Given the description of an element on the screen output the (x, y) to click on. 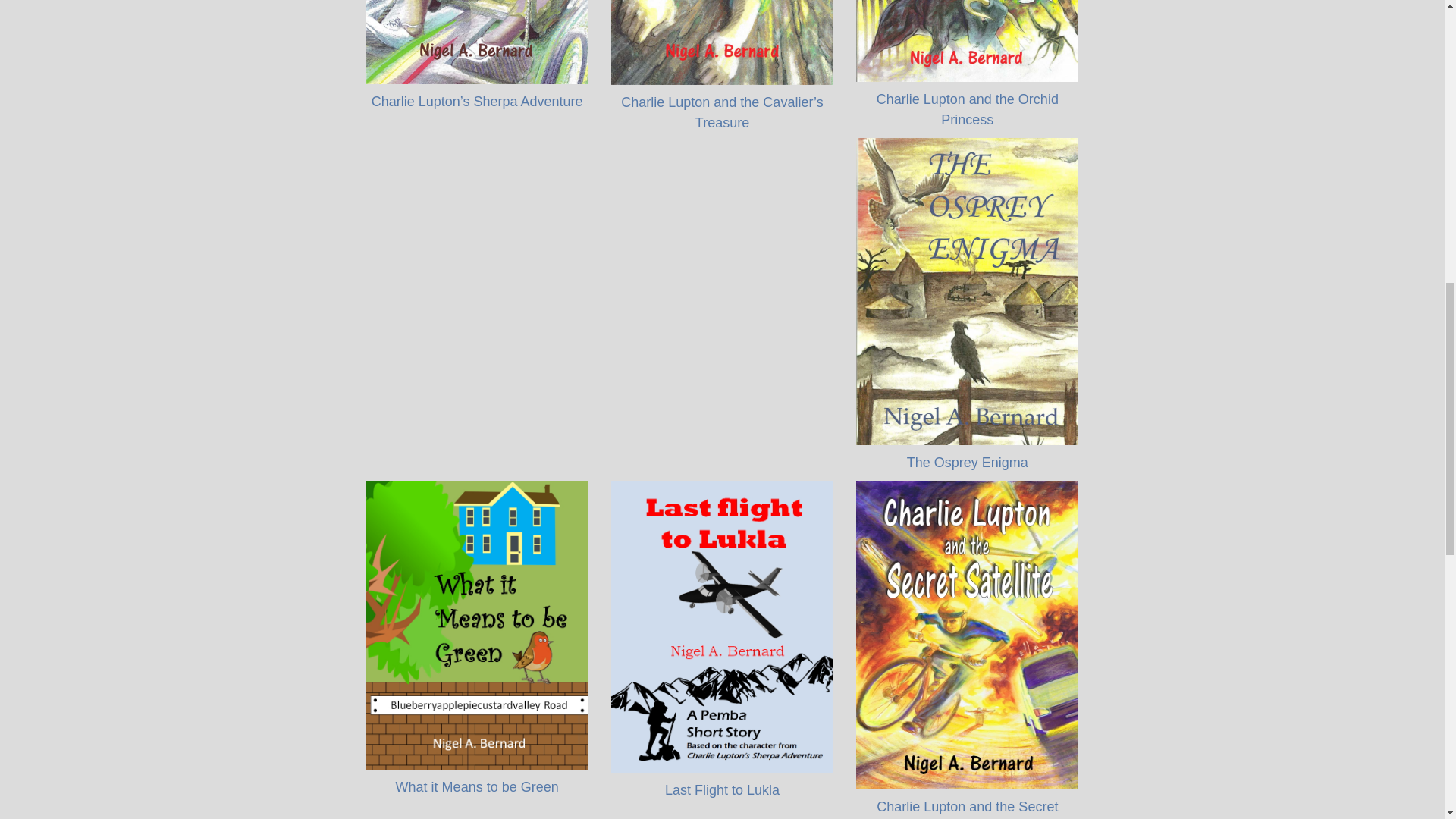
Charlie Lupton and the Secret Satellite (967, 809)
Charlie Lupton and the Orchid Princess (967, 40)
What it Means to be Green (477, 786)
The Osprey Enigma (967, 462)
Last Flight to Lukla (721, 789)
Charlie Lupton and the Orchid Princess (967, 109)
